Given the description of an element on the screen output the (x, y) to click on. 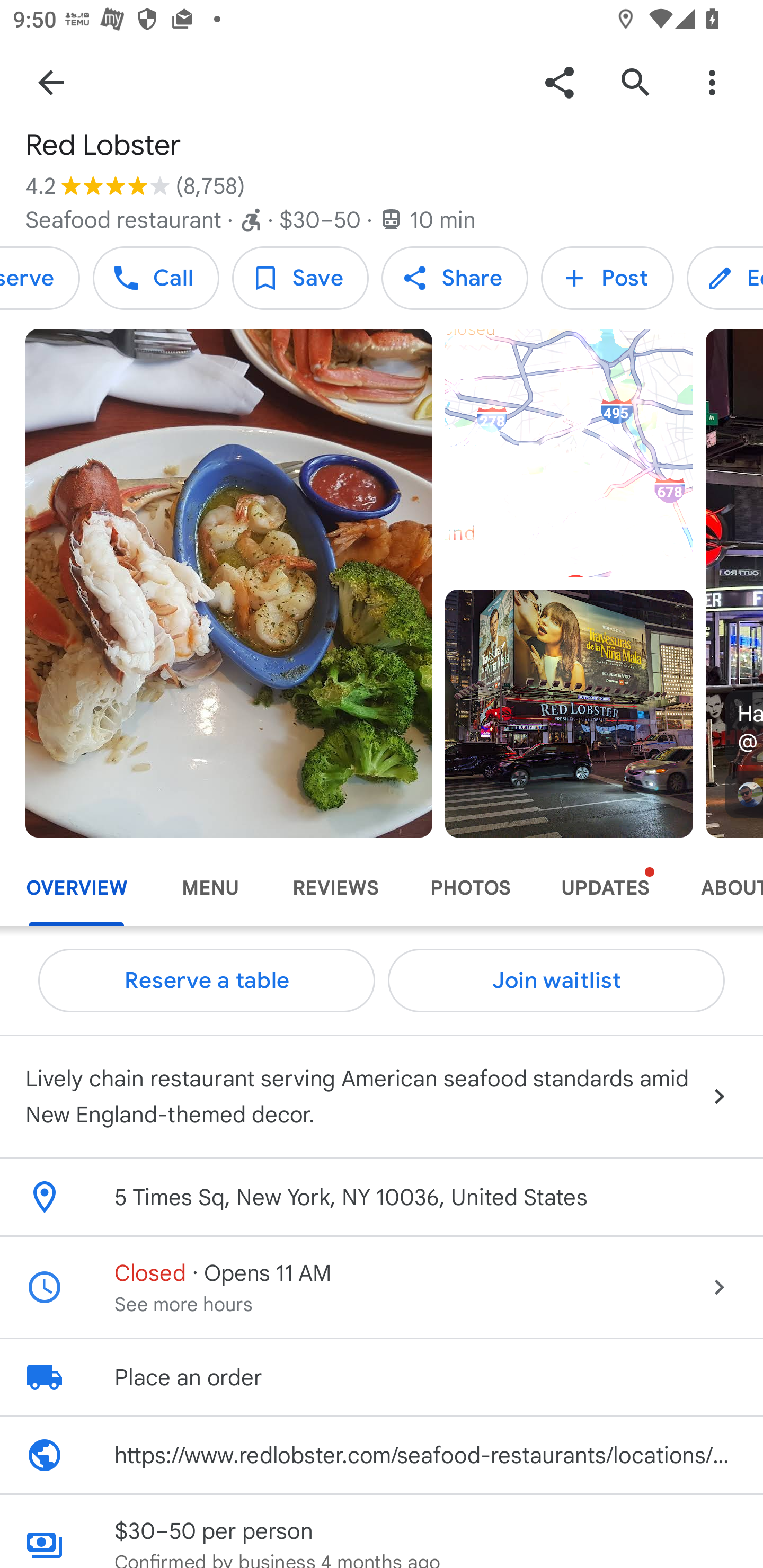
Back to Search (50, 81)
Share (559, 81)
Search (635, 81)
More options for Red Lobster (711, 81)
Share Red Lobster Share Share Red Lobster (454, 277)
Post Post Post (606, 277)
Edit Edit Edit (724, 277)
Photo (228, 583)
Video (568, 453)
Photo (568, 713)
MENU Menu (209, 887)
REVIEWS Reviews (335, 887)
PHOTOS Photos (469, 887)
UPDATES Updates New updates in Updates (605, 887)
ABOUT About (719, 887)
Reserve a table Reserve a table Reserve a table (206, 980)
Join waitlist Join waitlist Join waitlist (555, 980)
Place an order (381, 1377)
